Given the description of an element on the screen output the (x, y) to click on. 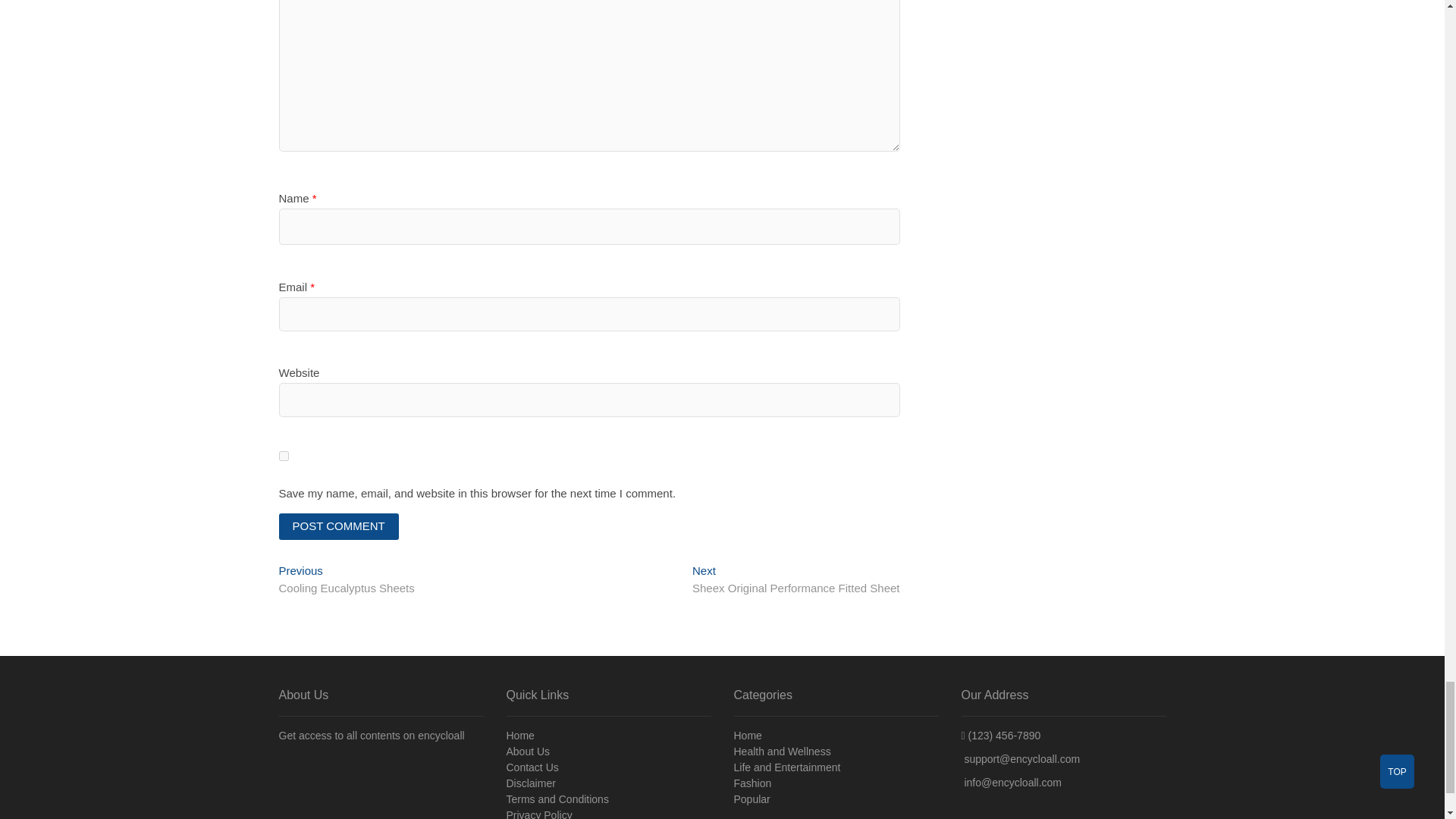
Post Comment (796, 580)
Post Comment (346, 580)
yes (338, 526)
